Given the description of an element on the screen output the (x, y) to click on. 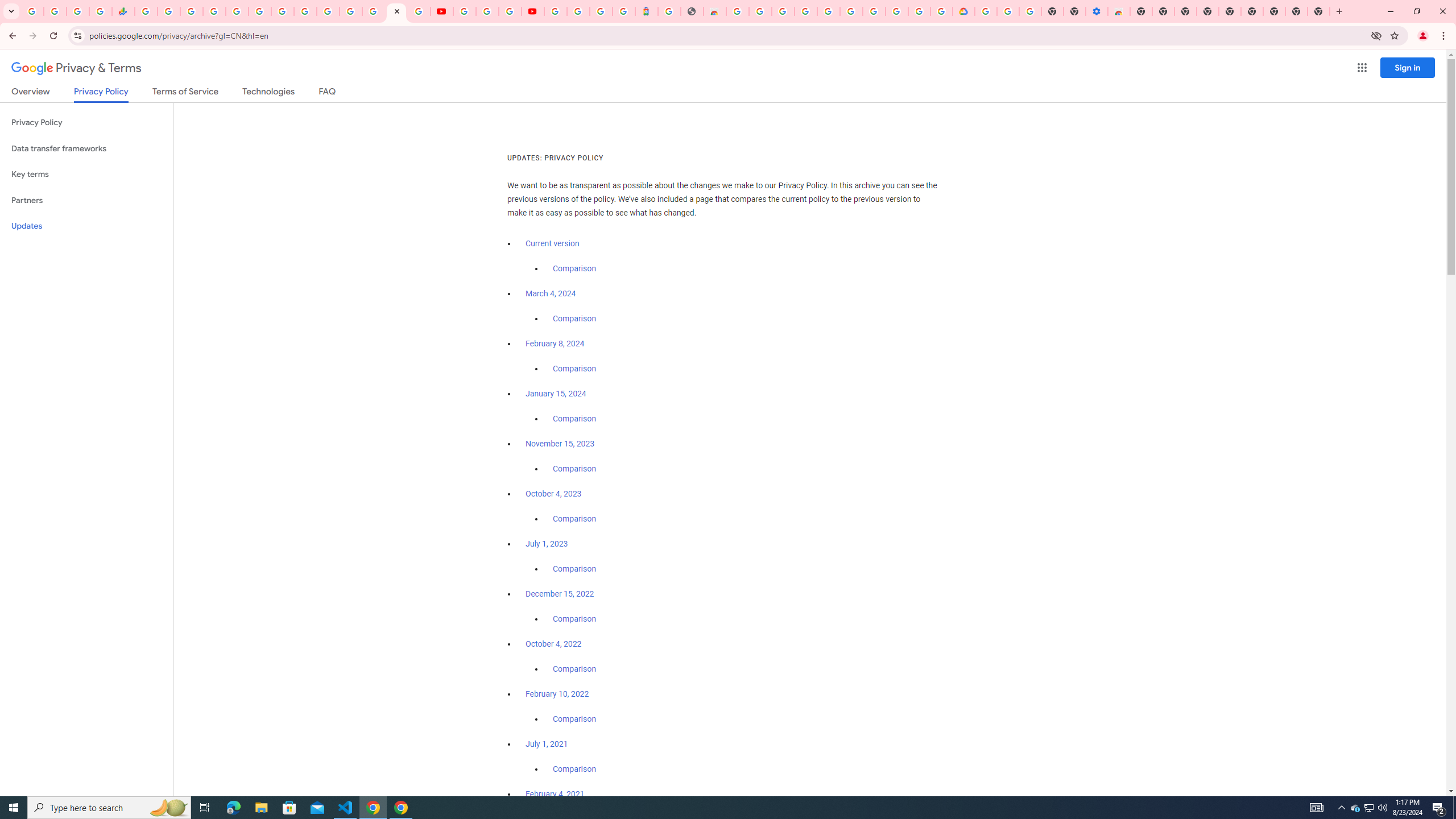
Current version (552, 243)
YouTube (441, 11)
Google Workspace Admin Community (32, 11)
November 15, 2023 (560, 443)
Key terms (86, 174)
January 15, 2024 (555, 394)
Sign in - Google Accounts (578, 11)
Sign in - Google Accounts (328, 11)
Sign in - Google Accounts (828, 11)
Content Creator Programs & Opportunities - YouTube Creators (532, 11)
Atour Hotel - Google hotels (646, 11)
Chrome Web Store - Household (714, 11)
